Given the description of an element on the screen output the (x, y) to click on. 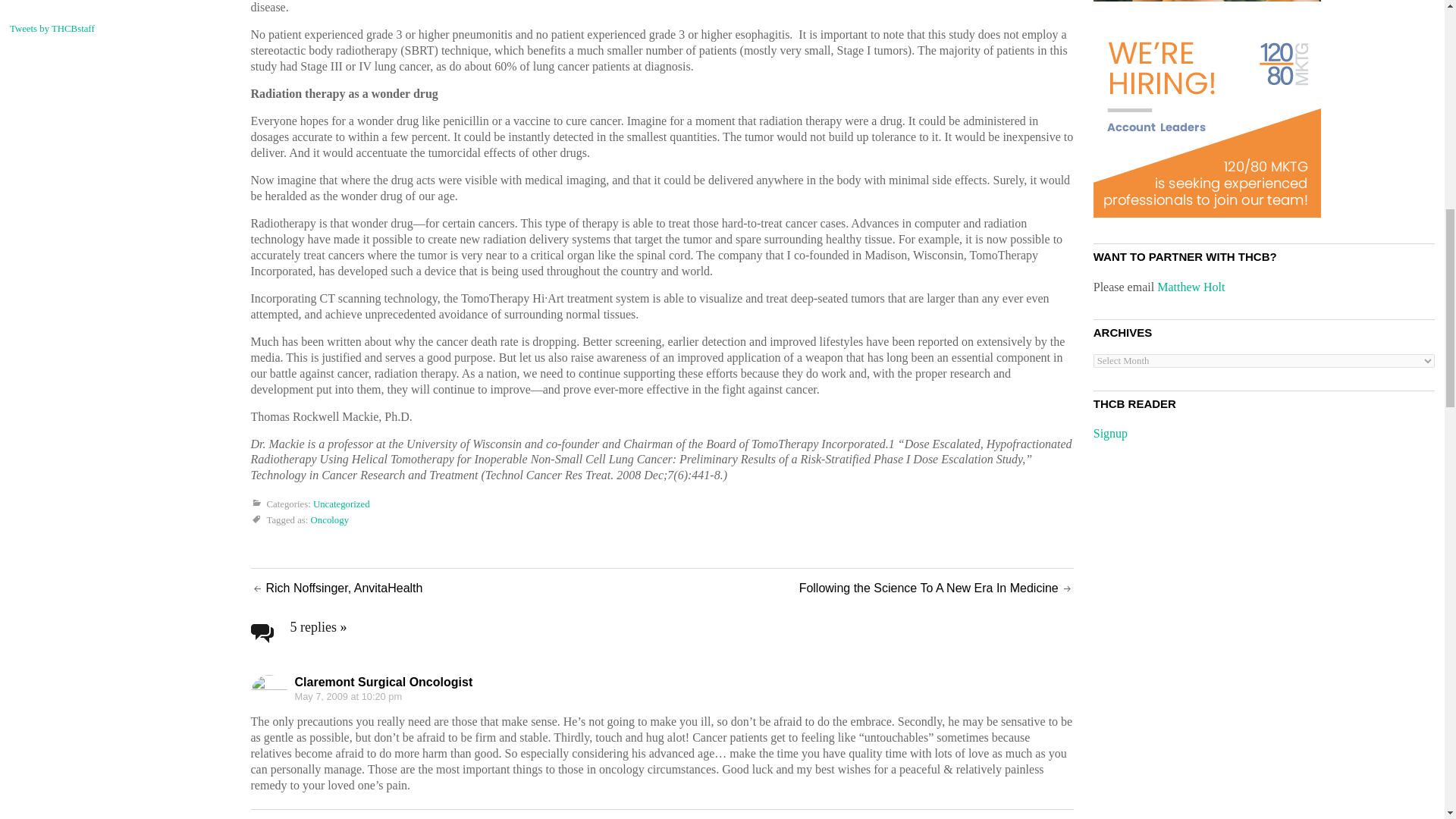
Following the Science To A New Era In Medicine (928, 587)
Rich Noffsinger, AnvitaHealth (343, 587)
May 7, 2009 at 10:20 pm (347, 695)
Tweets by THCBstaff (52, 28)
Oncology (330, 520)
Claremont Surgical Oncologist (382, 681)
Uncategorized (341, 504)
